Given the description of an element on the screen output the (x, y) to click on. 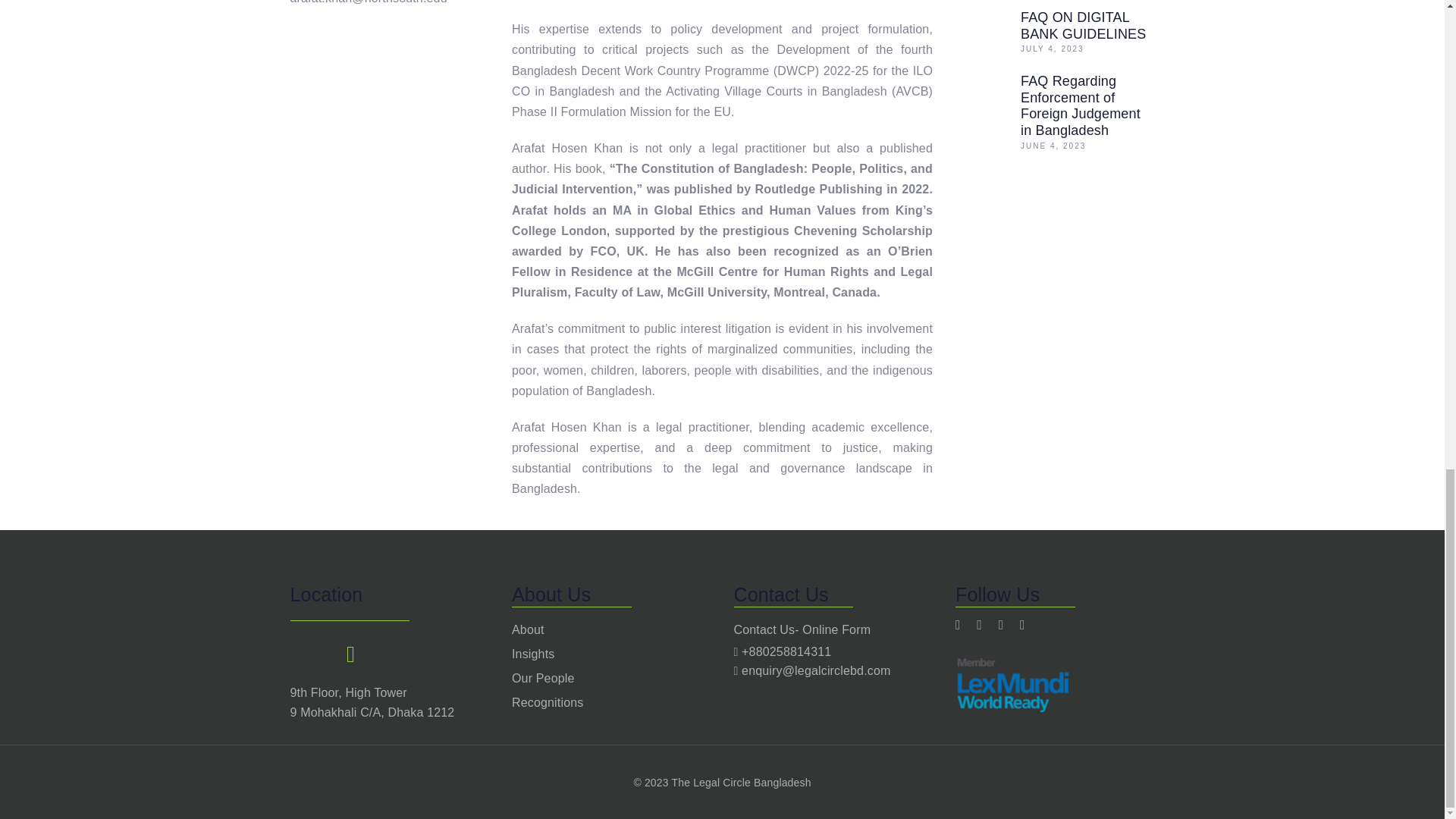
lexmundi (1011, 684)
